Given the description of an element on the screen output the (x, y) to click on. 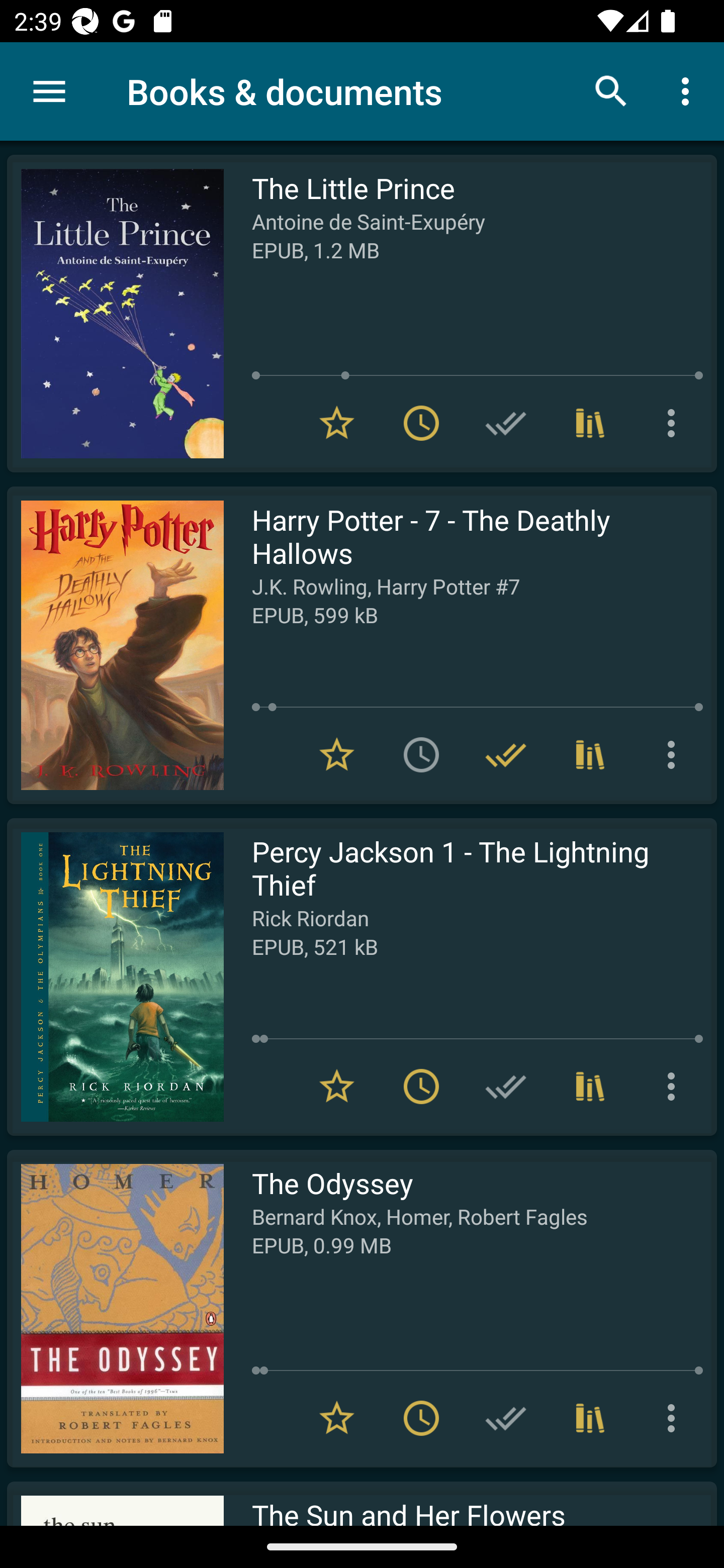
Menu (49, 91)
Search books & documents (611, 90)
More options (688, 90)
Read The Little Prince (115, 313)
Remove from Favorites (336, 423)
Remove from To read (421, 423)
Add to Have read (505, 423)
Collections (1) (590, 423)
More options (674, 423)
Read Harry Potter - 7 - The Deathly Hallows (115, 645)
Remove from Favorites (336, 753)
Add to To read (421, 753)
Remove from Have read (505, 753)
Collections (3) (590, 753)
More options (674, 753)
Read Percy Jackson 1 - The Lightning Thief (115, 976)
Remove from Favorites (336, 1086)
Remove from To read (421, 1086)
Add to Have read (505, 1086)
Collections (1) (590, 1086)
More options (674, 1086)
Read The Odyssey (115, 1308)
Remove from Favorites (336, 1417)
Remove from To read (421, 1417)
Add to Have read (505, 1417)
Collections (3) (590, 1417)
More options (674, 1417)
